Given the description of an element on the screen output the (x, y) to click on. 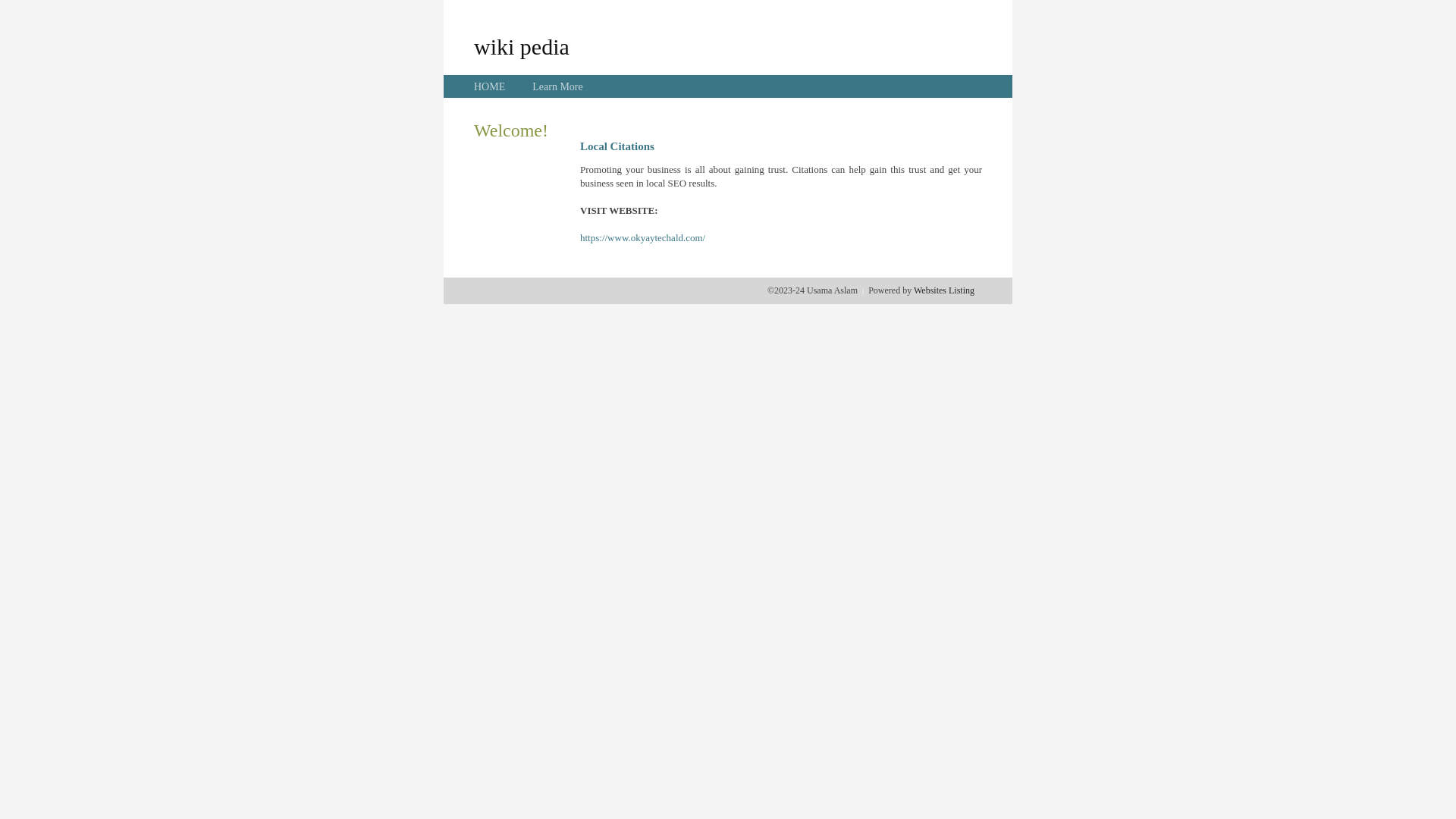
https://www.okyaytechald.com/ Element type: text (642, 237)
HOME Element type: text (489, 86)
Learn More Element type: text (557, 86)
wiki pedia Element type: text (521, 46)
Websites Listing Element type: text (943, 290)
